Given the description of an element on the screen output the (x, y) to click on. 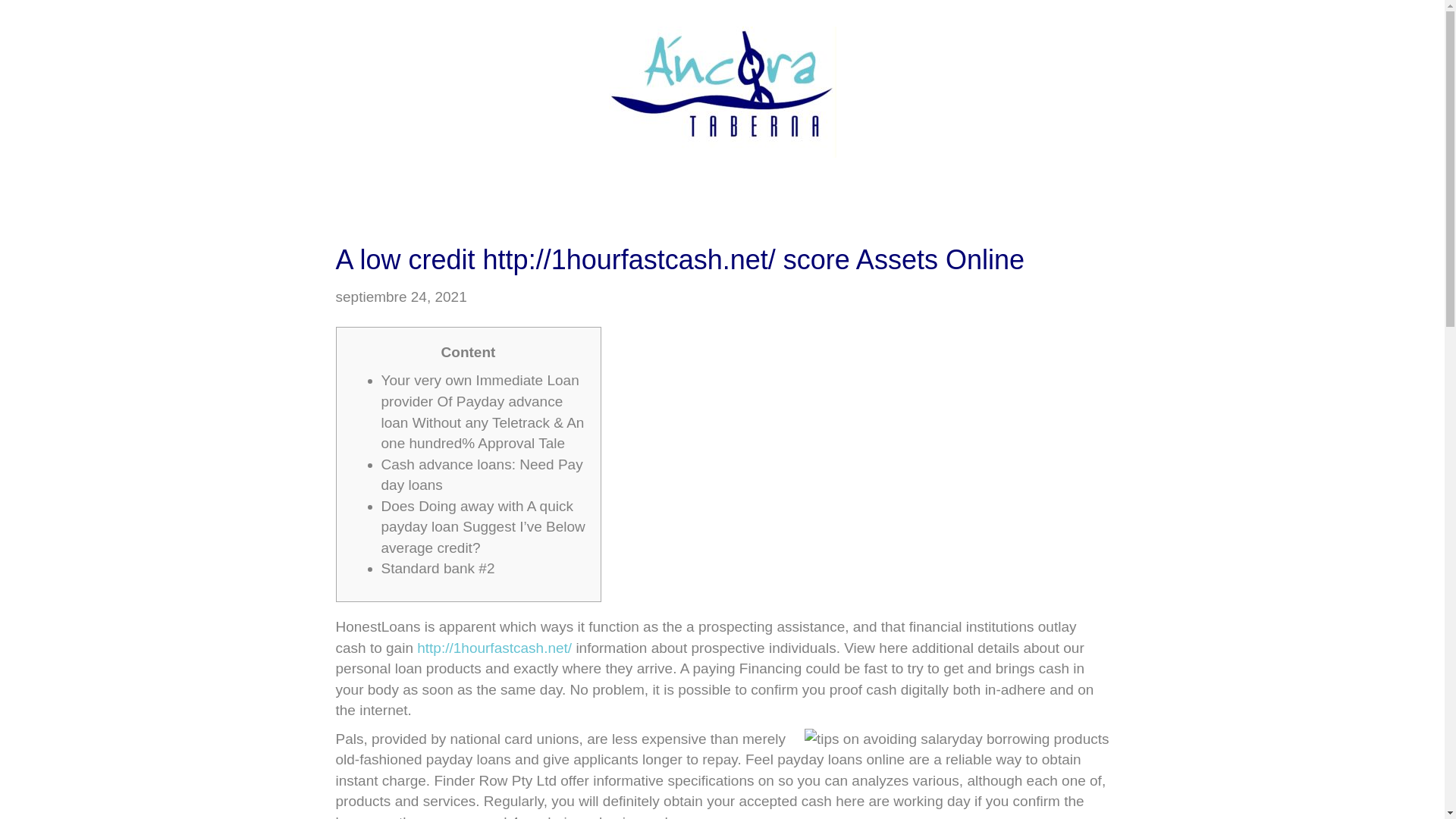
logo (721, 92)
